Given the description of an element on the screen output the (x, y) to click on. 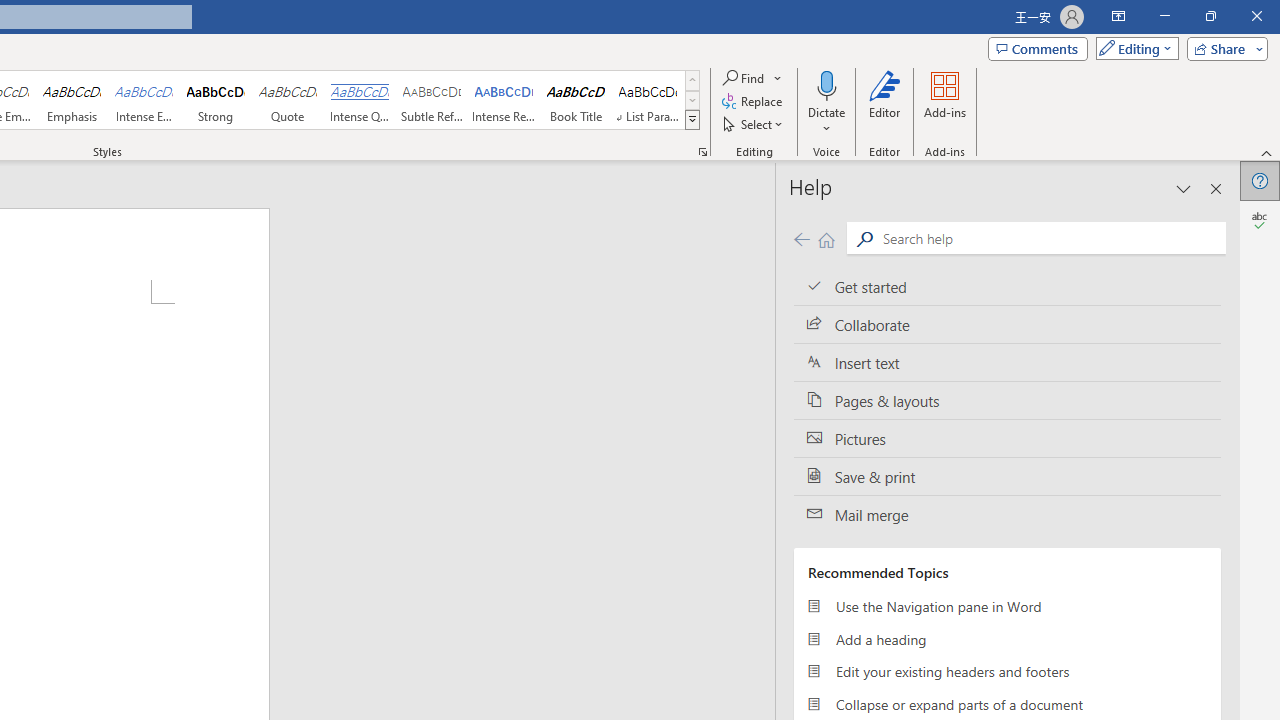
Find (753, 78)
Strong (216, 100)
Add a heading (1007, 638)
Intense Emphasis (143, 100)
Select (754, 124)
Subtle Reference (431, 100)
Styles... (702, 151)
Find (744, 78)
Row up (692, 79)
Book Title (575, 100)
Close pane (1215, 188)
